Given the description of an element on the screen output the (x, y) to click on. 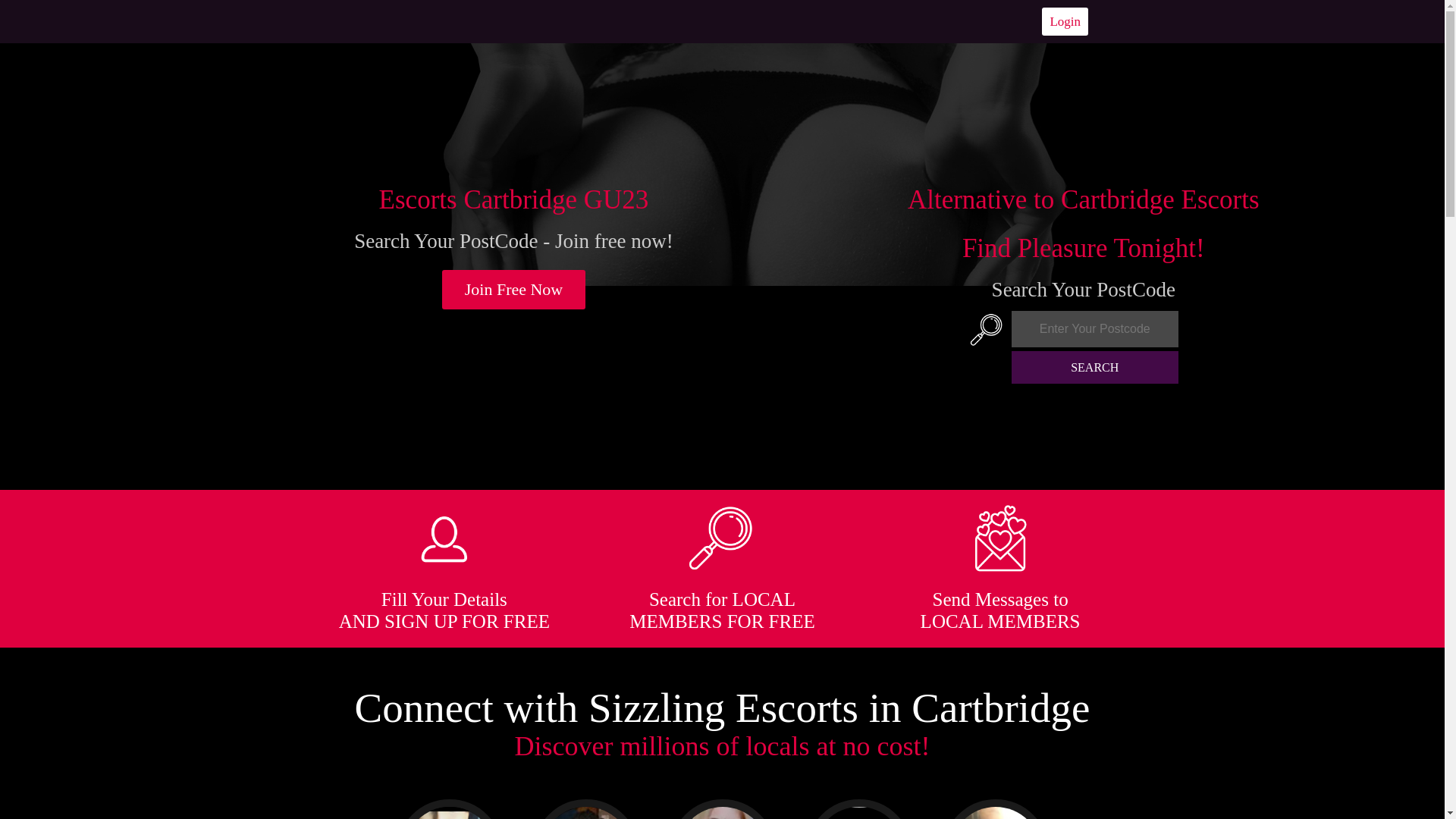
Join (514, 289)
Login (1064, 21)
SEARCH (1094, 367)
Login (1064, 21)
Join Free Now (514, 289)
